Given the description of an element on the screen output the (x, y) to click on. 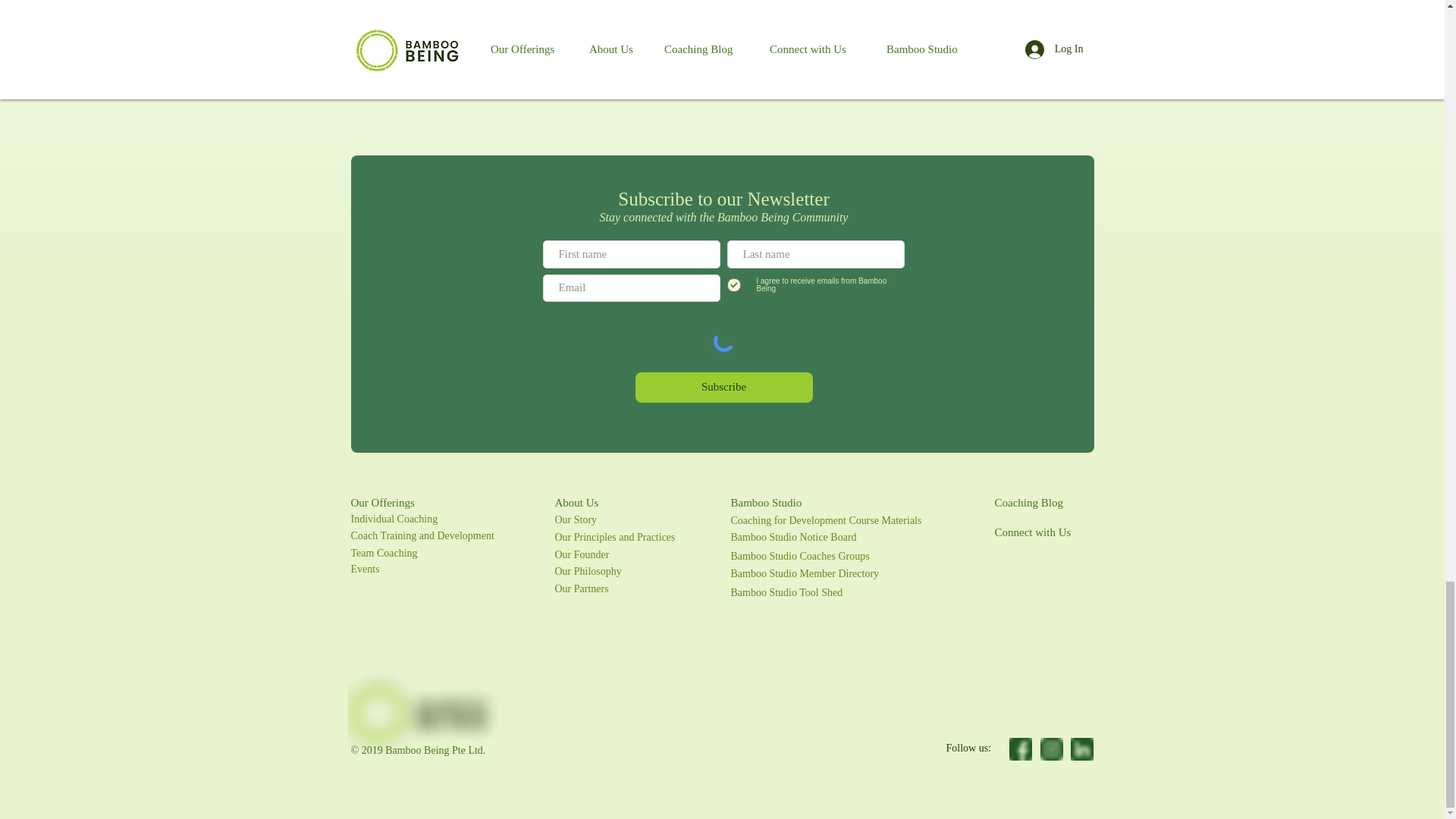
Bamboo Studio Notice Board (793, 536)
Team Coaching (383, 552)
Our Partners (581, 588)
Subscribe (723, 387)
Our Philosophy (587, 571)
Coach Training and Development (421, 535)
Our Founder (582, 554)
Our Principles and Practices (614, 536)
Coaching for Development Course Materials (825, 520)
Our Story (575, 519)
Events (364, 568)
Bamboo Studio Member Directory (804, 573)
Bamboo Studio (766, 502)
Individual Coaching (394, 518)
About Us (576, 502)
